Given the description of an element on the screen output the (x, y) to click on. 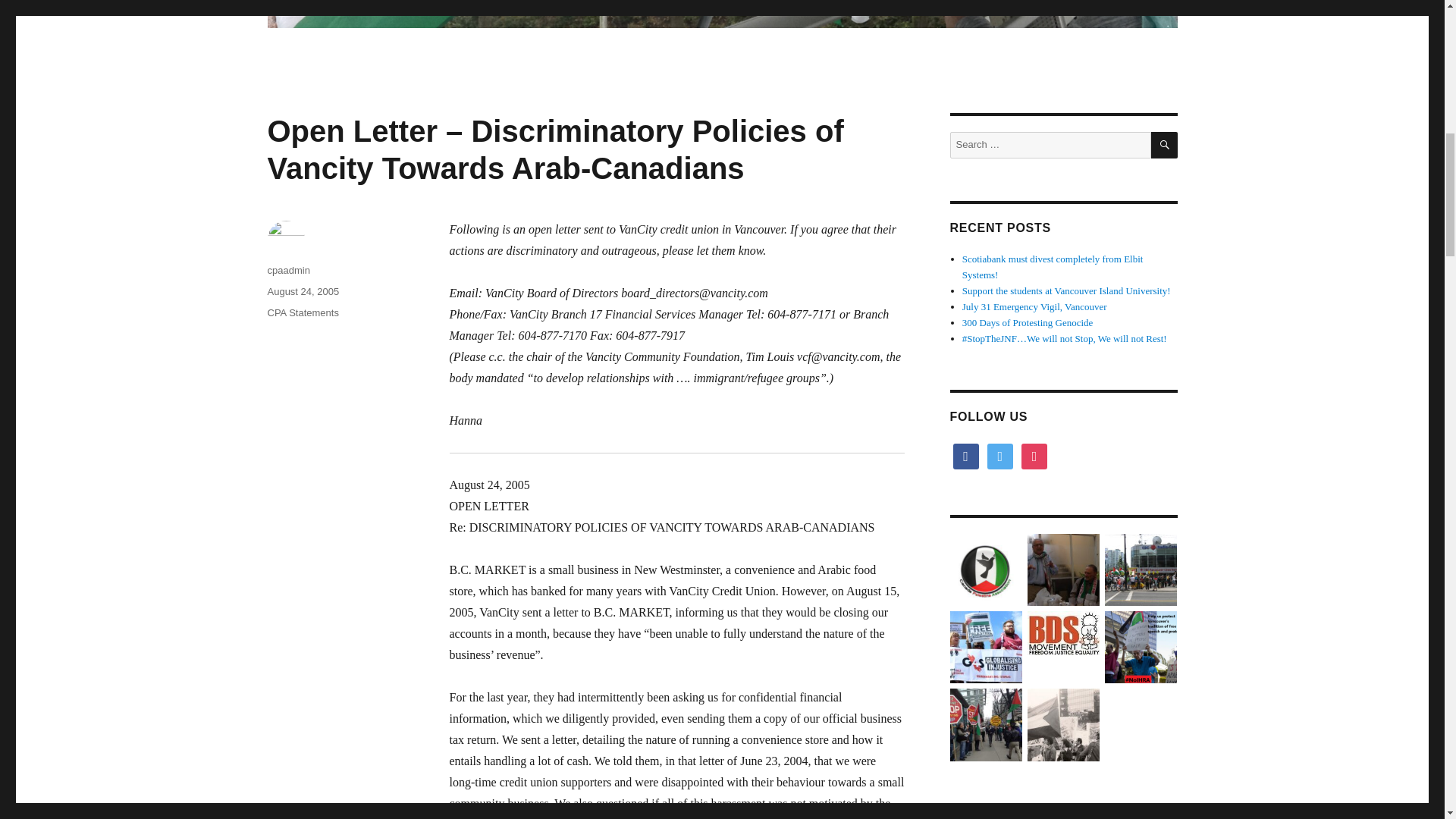
CPA Statements (301, 312)
Twitter (1000, 455)
cpaadmin (287, 270)
Support the students at Vancouver Island University! (1066, 290)
Scotiabank must divest completely from Elbit Systems! (1052, 266)
August 24, 2005 (302, 291)
July 31 Emergency Vigil, Vancouver (1034, 306)
300 Days of Protesting Genocide (1027, 322)
Default Label (1034, 455)
SEARCH (1164, 144)
